Given the description of an element on the screen output the (x, y) to click on. 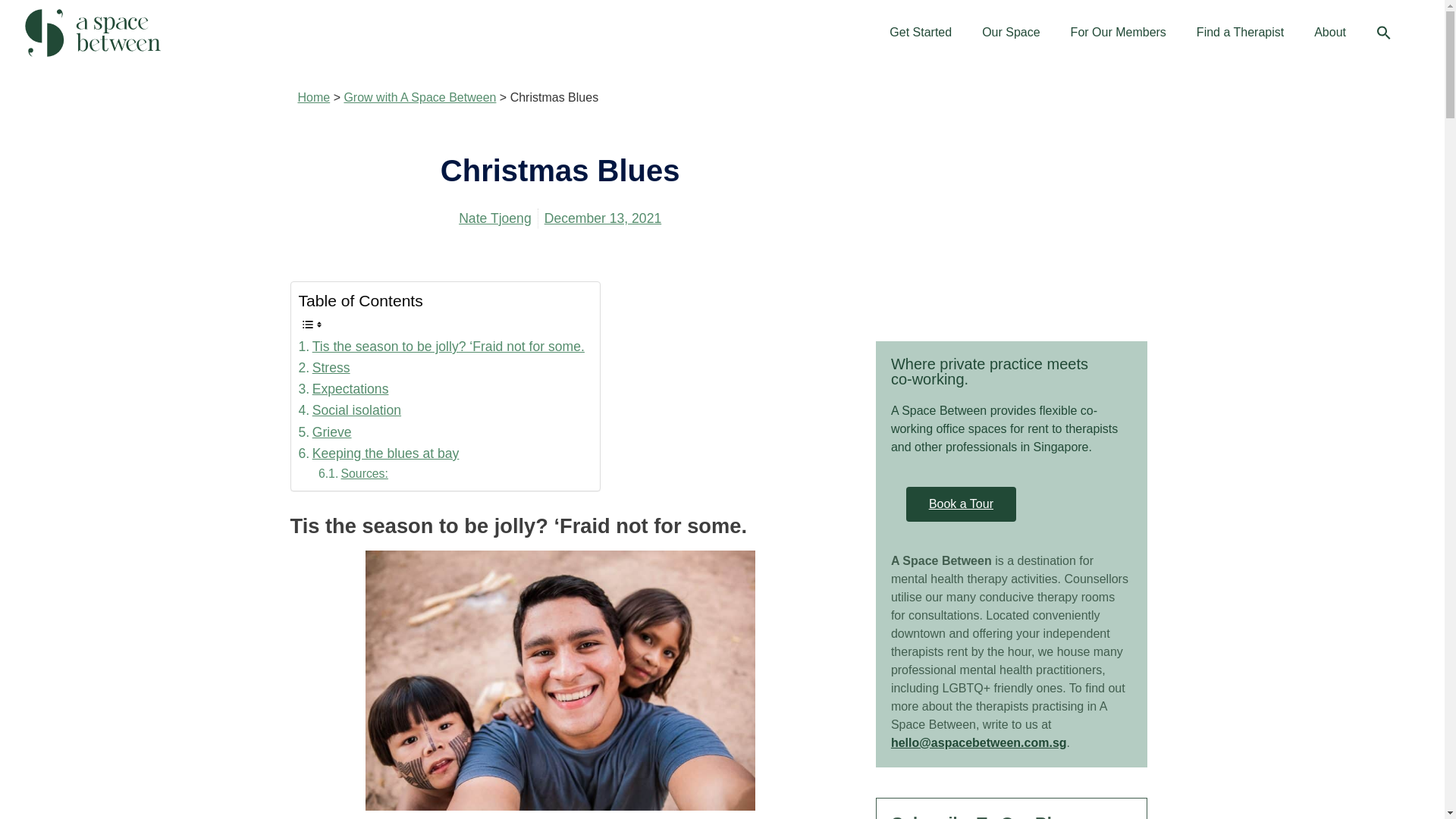
Our Space (1010, 32)
Get Started (920, 32)
For Our Members (1117, 32)
Expectations (343, 388)
About (1329, 32)
Keeping the blues at bay (379, 453)
Stress (324, 367)
Sources: (353, 473)
Grieve (325, 432)
Christmas Blues 1 (560, 680)
